Given the description of an element on the screen output the (x, y) to click on. 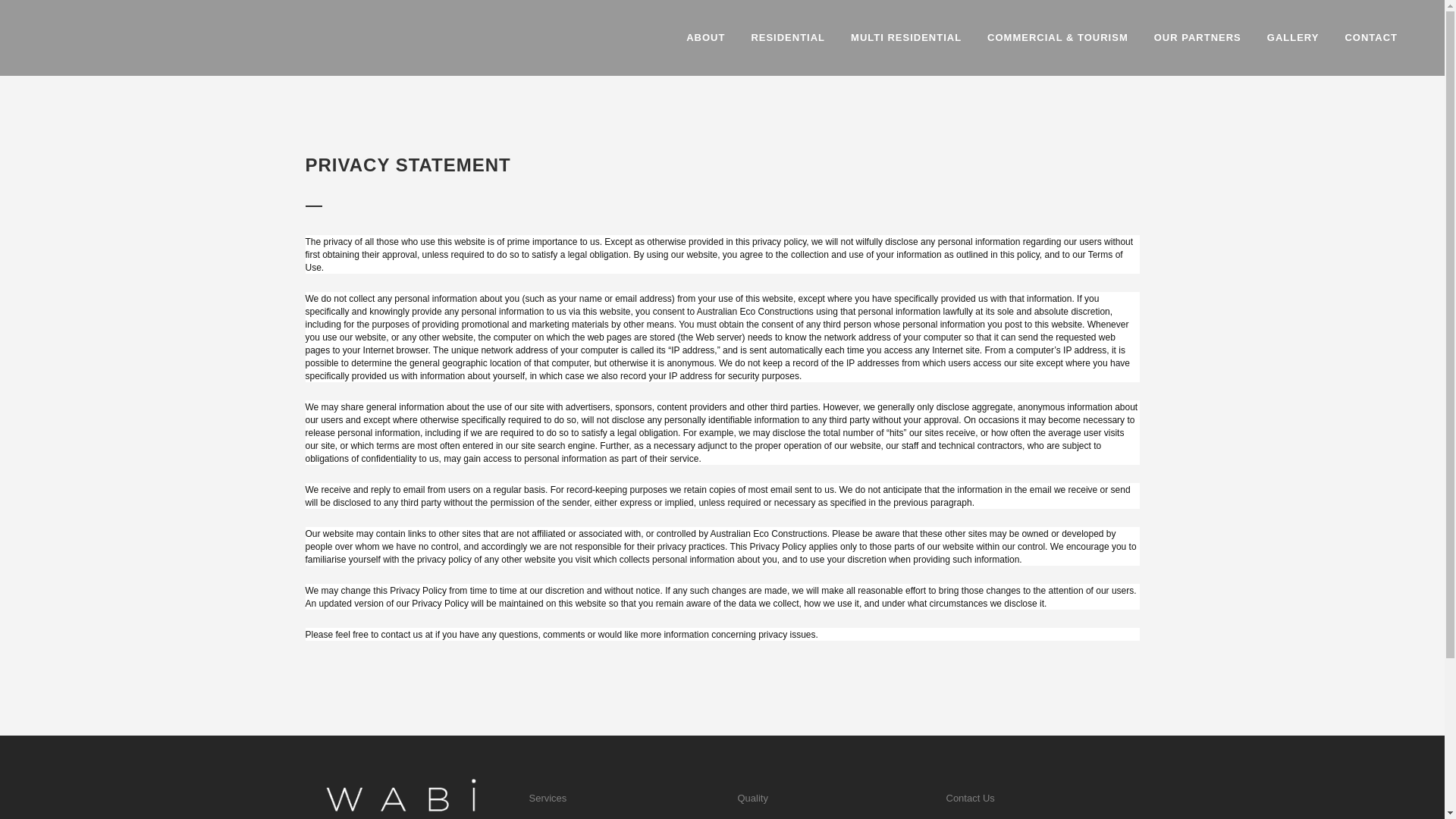
Contact Us Element type: text (1042, 798)
CONTACT Element type: text (1370, 37)
ABOUT Element type: text (705, 37)
RESIDENTIAL Element type: text (787, 37)
GALLERY Element type: text (1293, 37)
Quality Element type: text (831, 798)
MULTI RESIDENTIAL Element type: text (905, 37)
COMMERCIAL & TOURISM Element type: text (1057, 37)
Services Element type: text (622, 798)
OUR PARTNERS Element type: text (1197, 37)
